Given the description of an element on the screen output the (x, y) to click on. 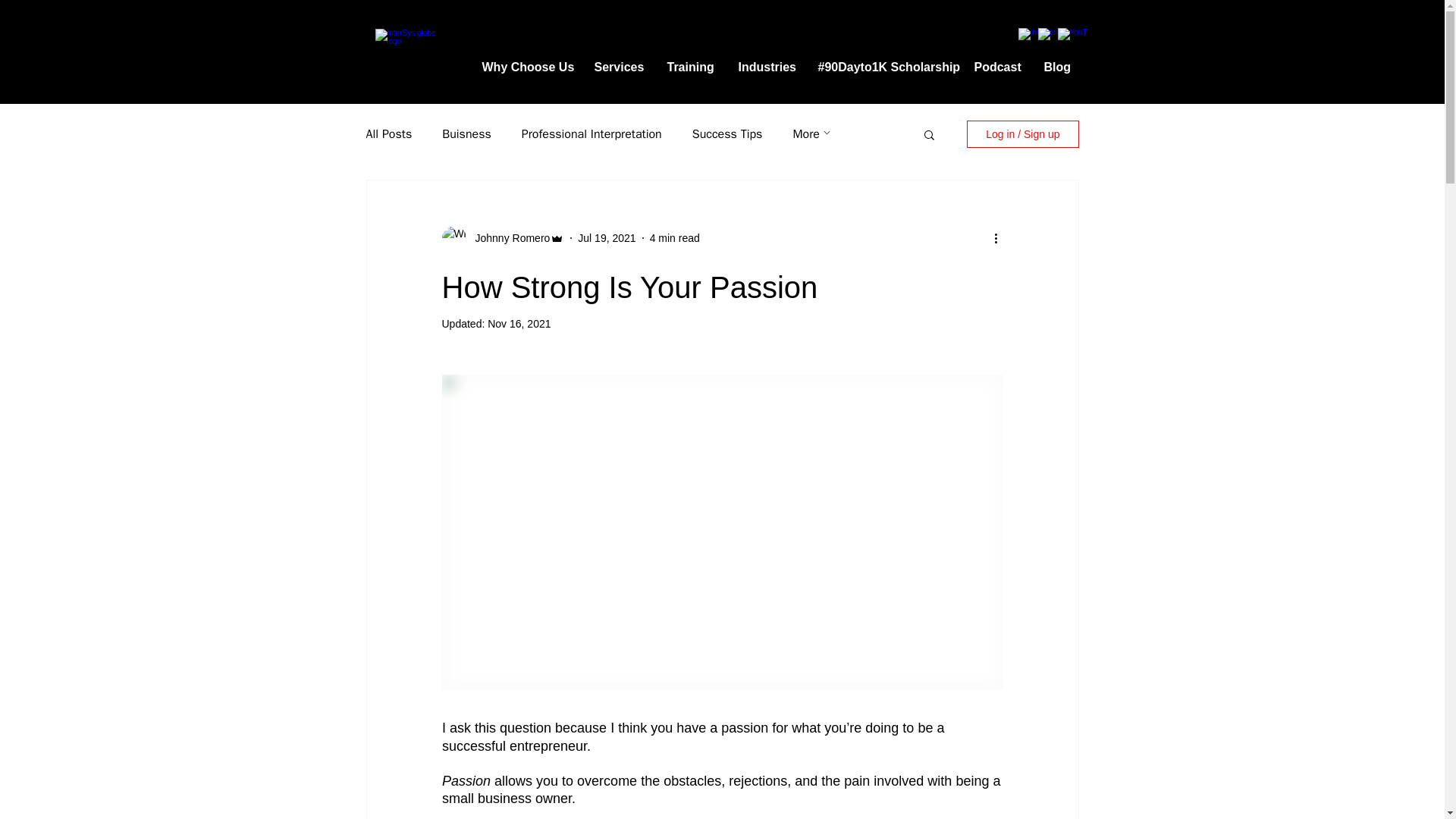
Industries (766, 67)
Why Choose Us (526, 67)
Nov 16, 2021 (518, 323)
Training (690, 67)
Buisness (467, 133)
Johnny Romero (507, 238)
Blog (1058, 67)
InterSys, LLC (405, 57)
Services (618, 67)
Professional Interpretation (591, 133)
